Given the description of an element on the screen output the (x, y) to click on. 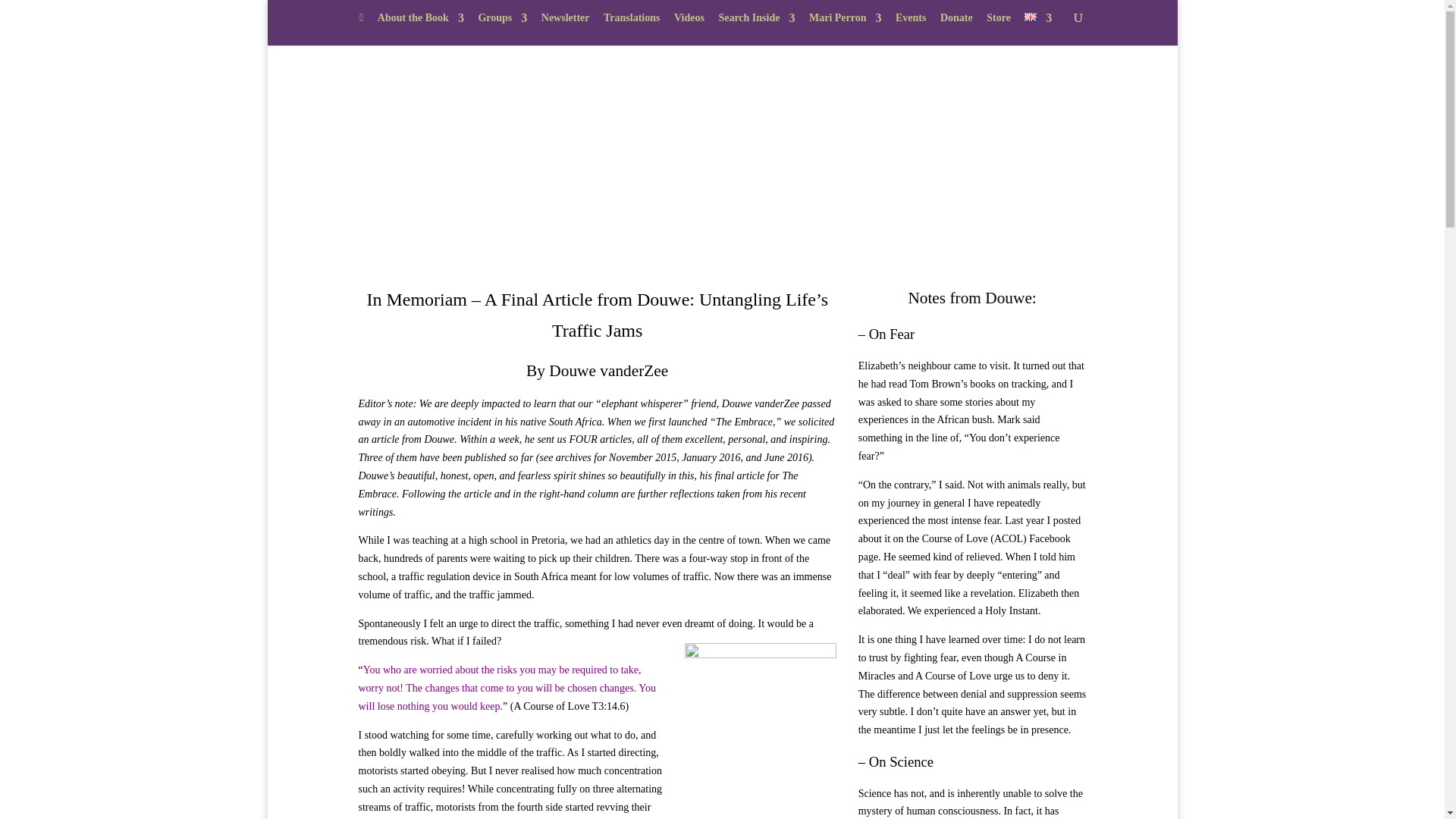
Events (910, 22)
Groups (502, 22)
About the Book (420, 22)
Translations (631, 22)
Donate (956, 22)
Newsletter (565, 22)
Videos (689, 22)
Search Inside (755, 22)
Mari Perron (845, 22)
Store (998, 22)
